Given the description of an element on the screen output the (x, y) to click on. 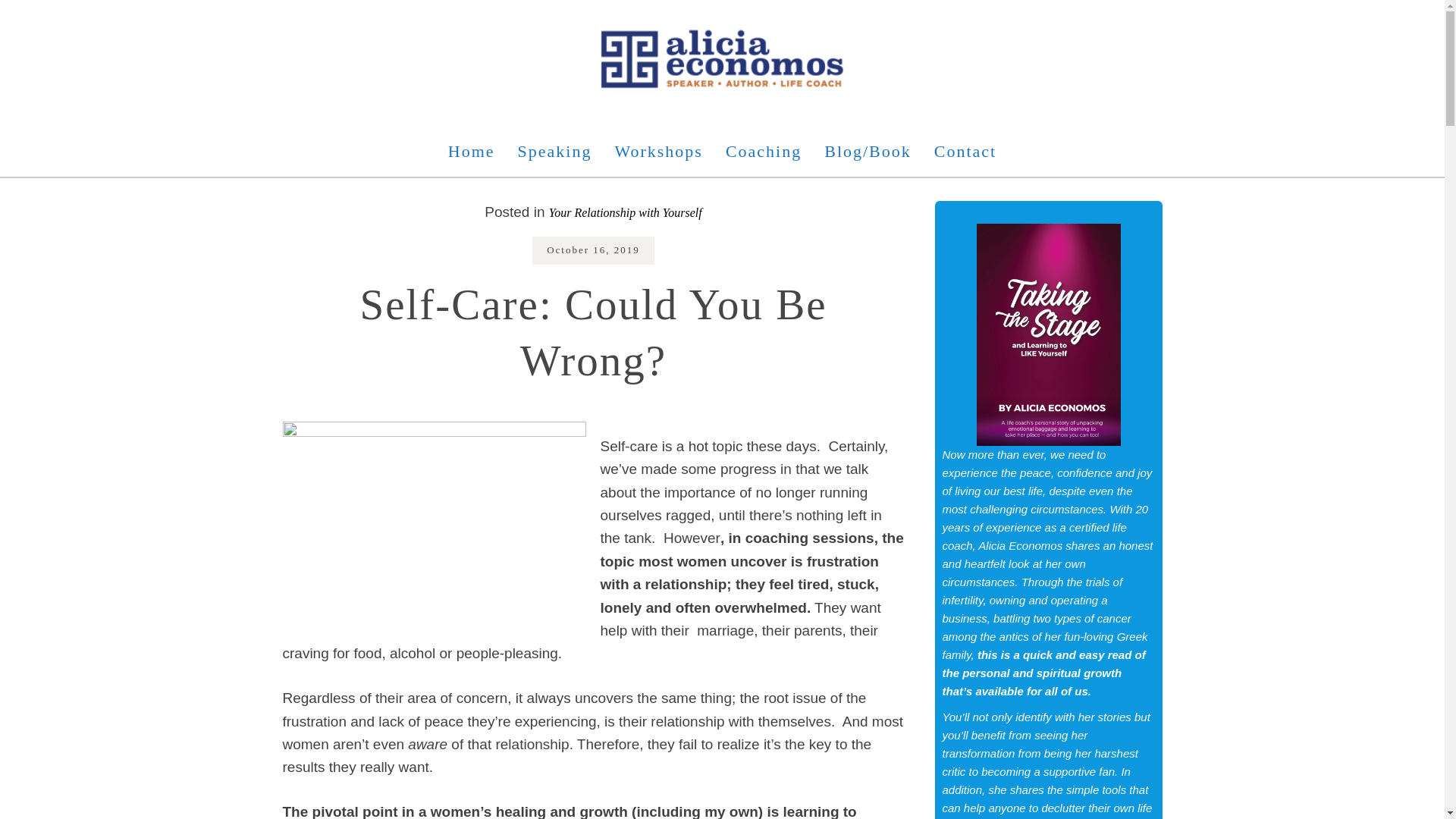
Your Relationship with Yourself (624, 212)
Home (471, 151)
Contact (965, 151)
Coaching (763, 151)
Workshops (657, 151)
Speaking (555, 151)
October 16, 2019 (593, 249)
